Given the description of an element on the screen output the (x, y) to click on. 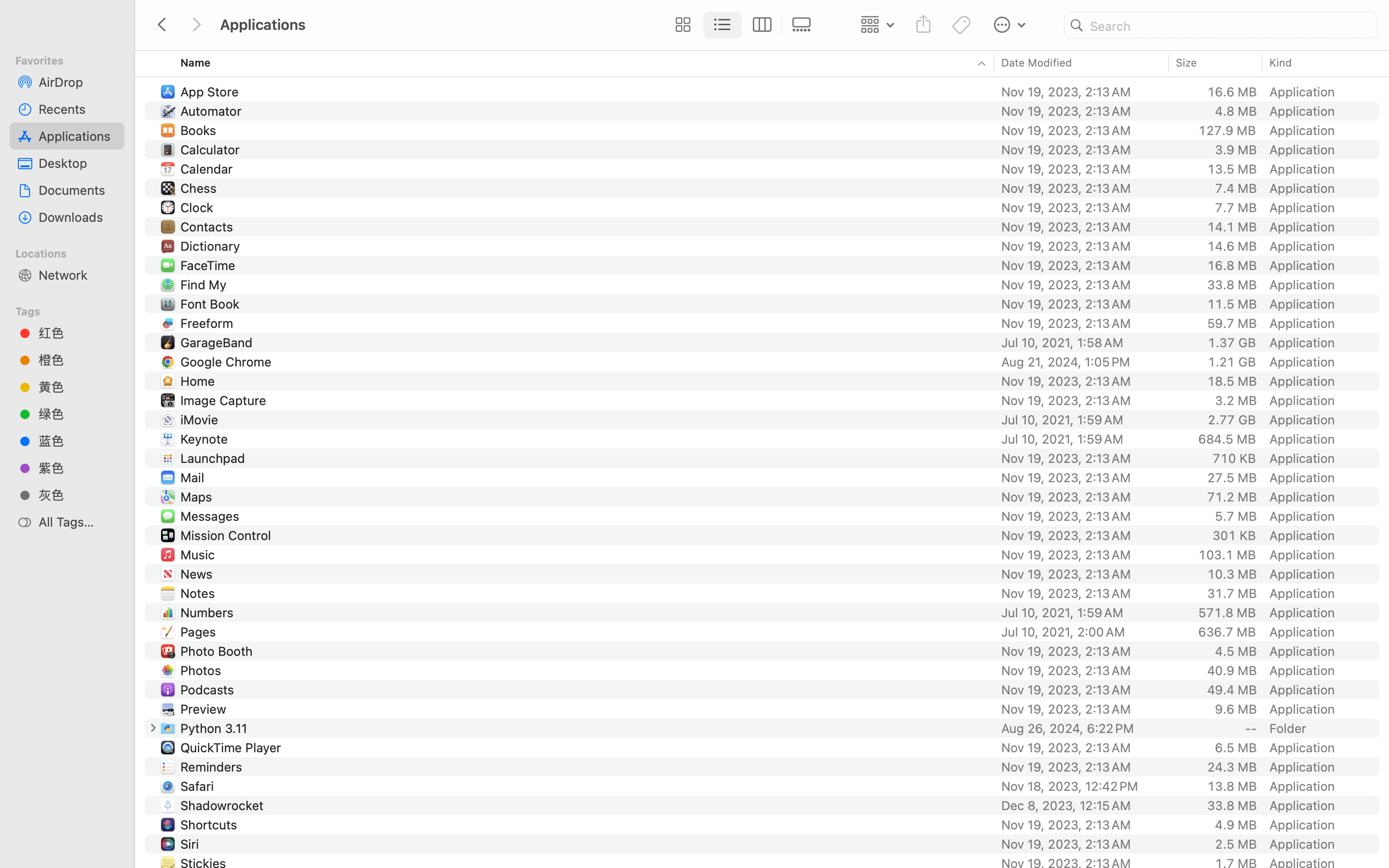
4.8 MB Element type: AXStaticText (1235, 110)
Folder Element type: AXStaticText (1287, 727)
Dictionary Element type: AXTextField (211, 245)
Jul 10, 2021, 2:00 AM Element type: AXStaticText (1081, 631)
27.5 MB Element type: AXStaticText (1231, 477)
